Given the description of an element on the screen output the (x, y) to click on. 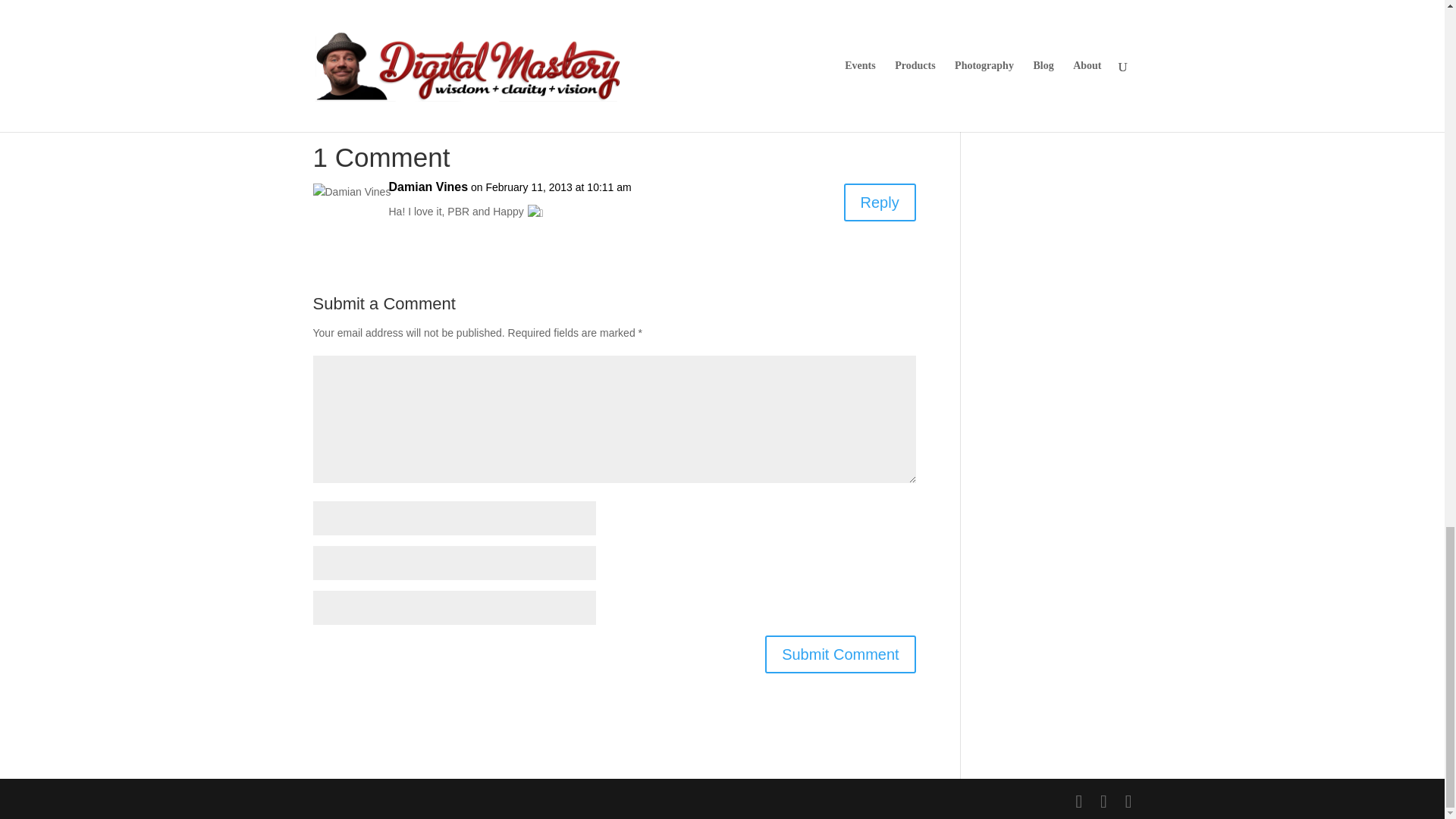
LeHappy (613, 32)
Reply (879, 202)
Submit Comment (840, 654)
Submit Comment (840, 654)
Damian Vines (427, 187)
